Given the description of an element on the screen output the (x, y) to click on. 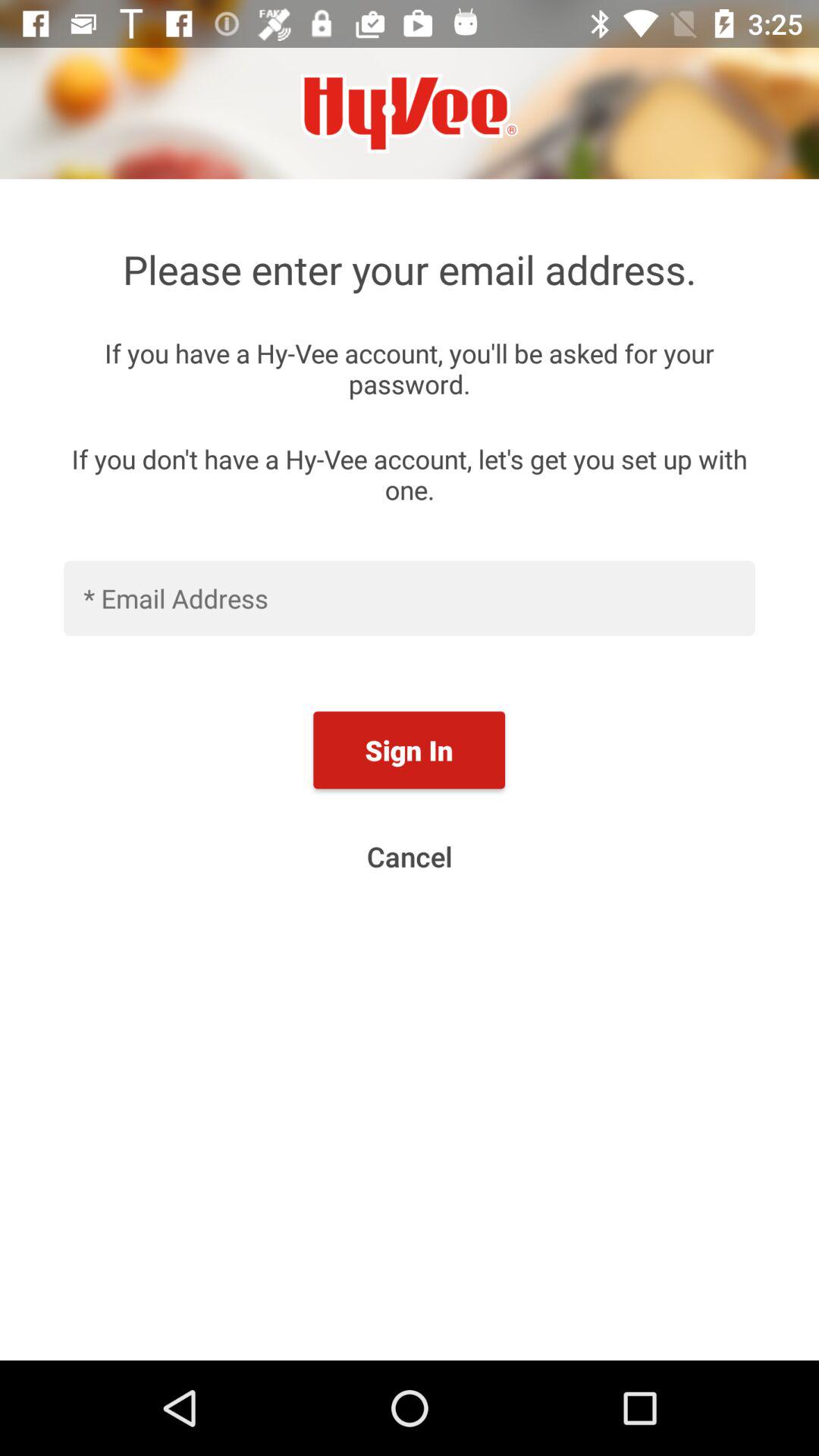
open item below the if you don icon (409, 597)
